Given the description of an element on the screen output the (x, y) to click on. 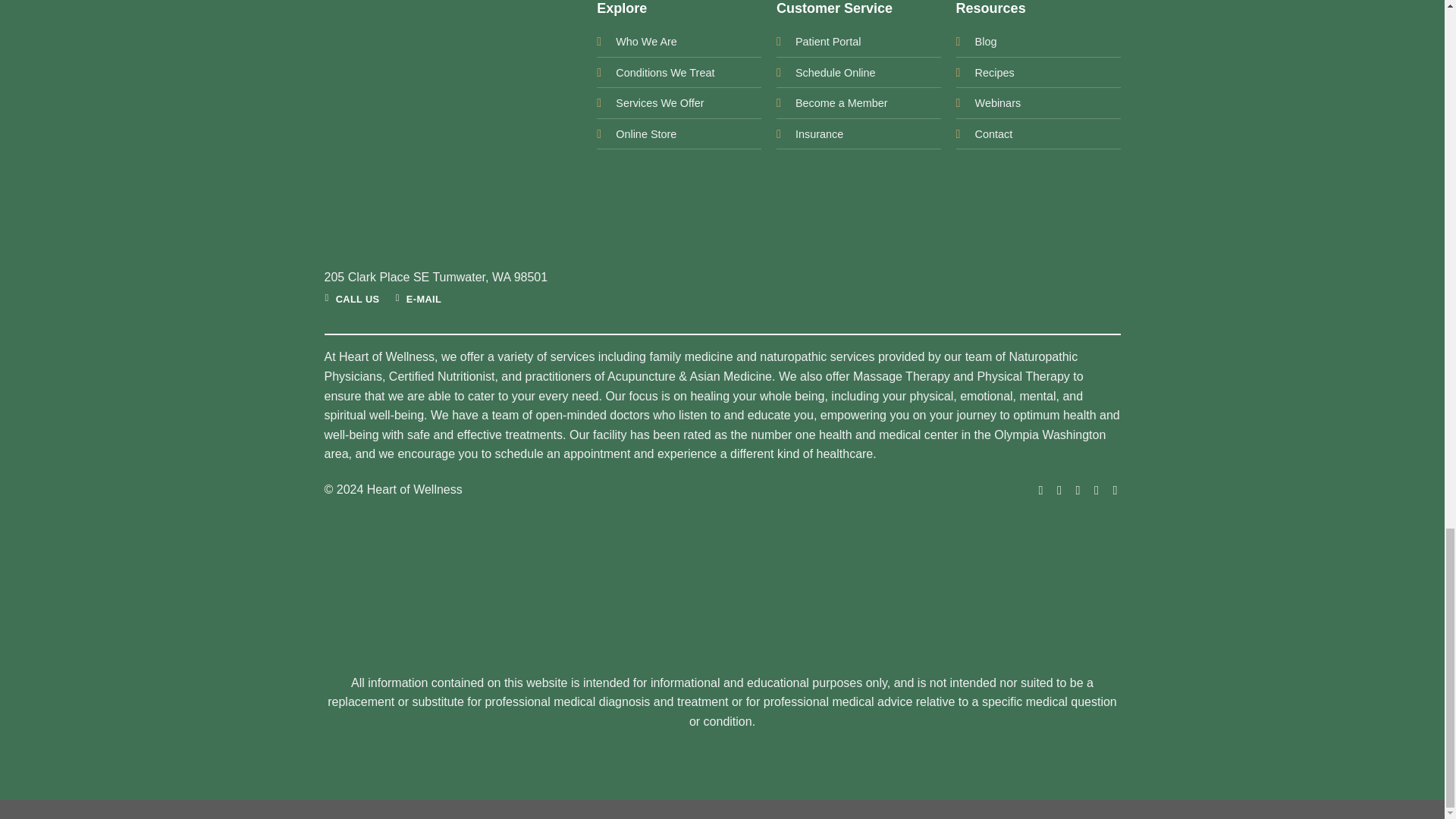
Follow on YouTube (1110, 489)
Follow on Twitter (1073, 489)
Follow on Instagram (1055, 489)
Follow on Pinterest (1092, 489)
Follow on Facebook (1036, 489)
